Given the description of an element on the screen output the (x, y) to click on. 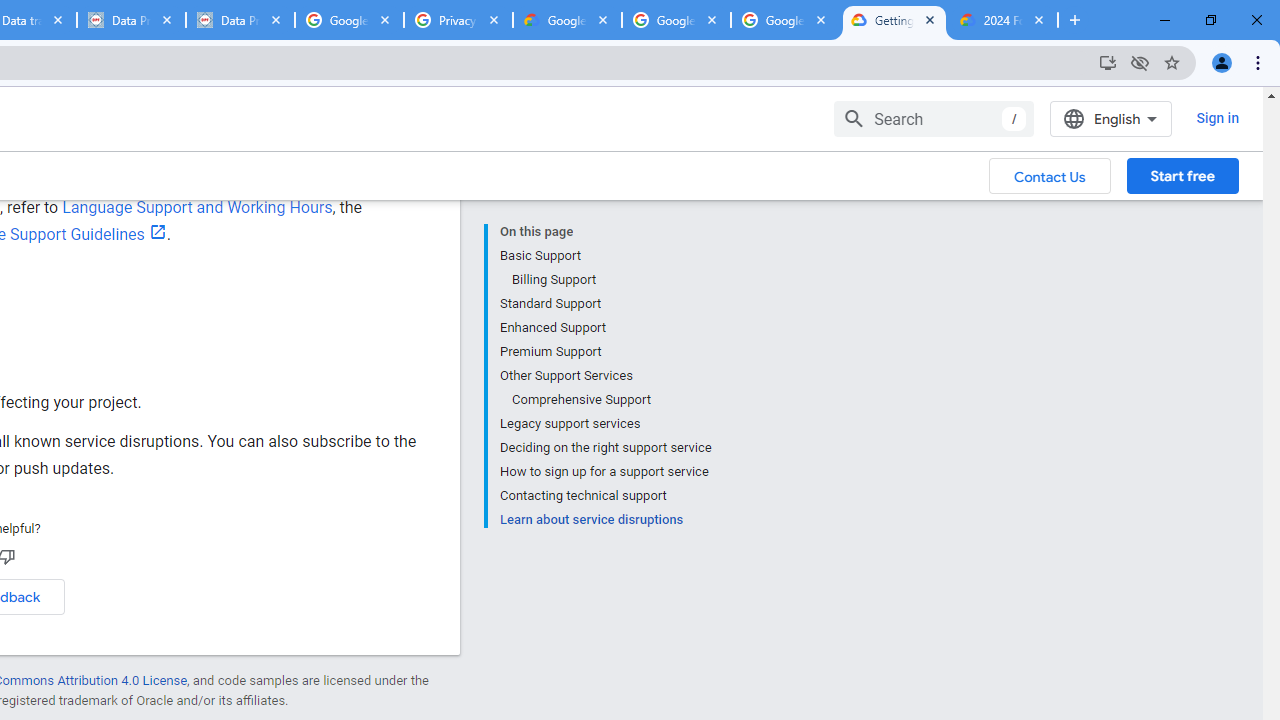
Enhanced Support (605, 327)
Legacy support services (605, 423)
Deciding on the right support service (605, 448)
Google Workspace - Specific Terms (676, 20)
Contact Us (1050, 175)
English (1110, 118)
Install Google Cloud (1107, 62)
Data Privacy Framework (130, 20)
How to sign up for a support service (605, 471)
